Given the description of an element on the screen output the (x, y) to click on. 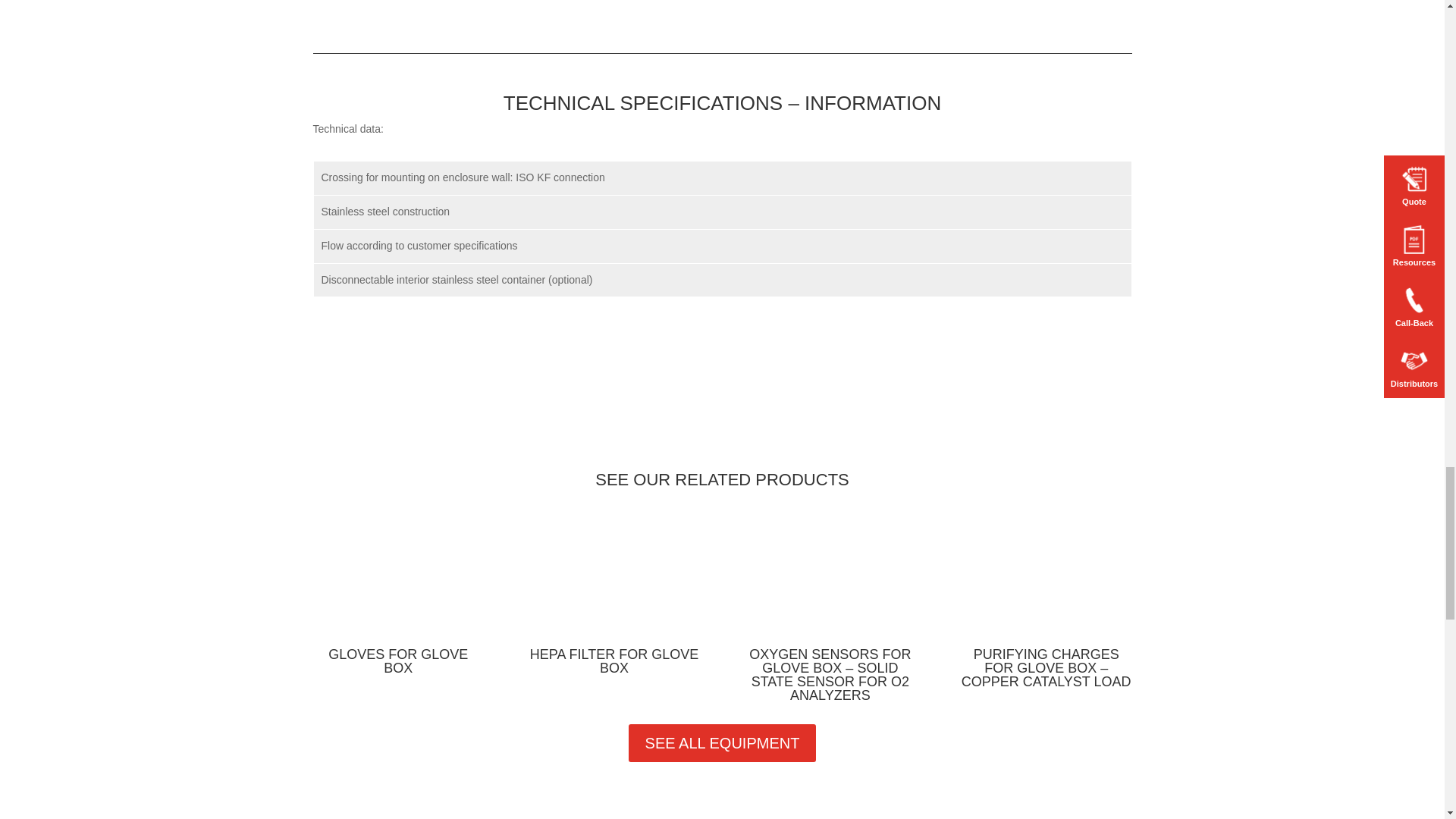
Gloves for Glove Box (398, 578)
HEPA Filter for Glove Box (613, 578)
HEPA Filter for Glove Box (613, 661)
Gloves for Glove Box (398, 661)
